Given the description of an element on the screen output the (x, y) to click on. 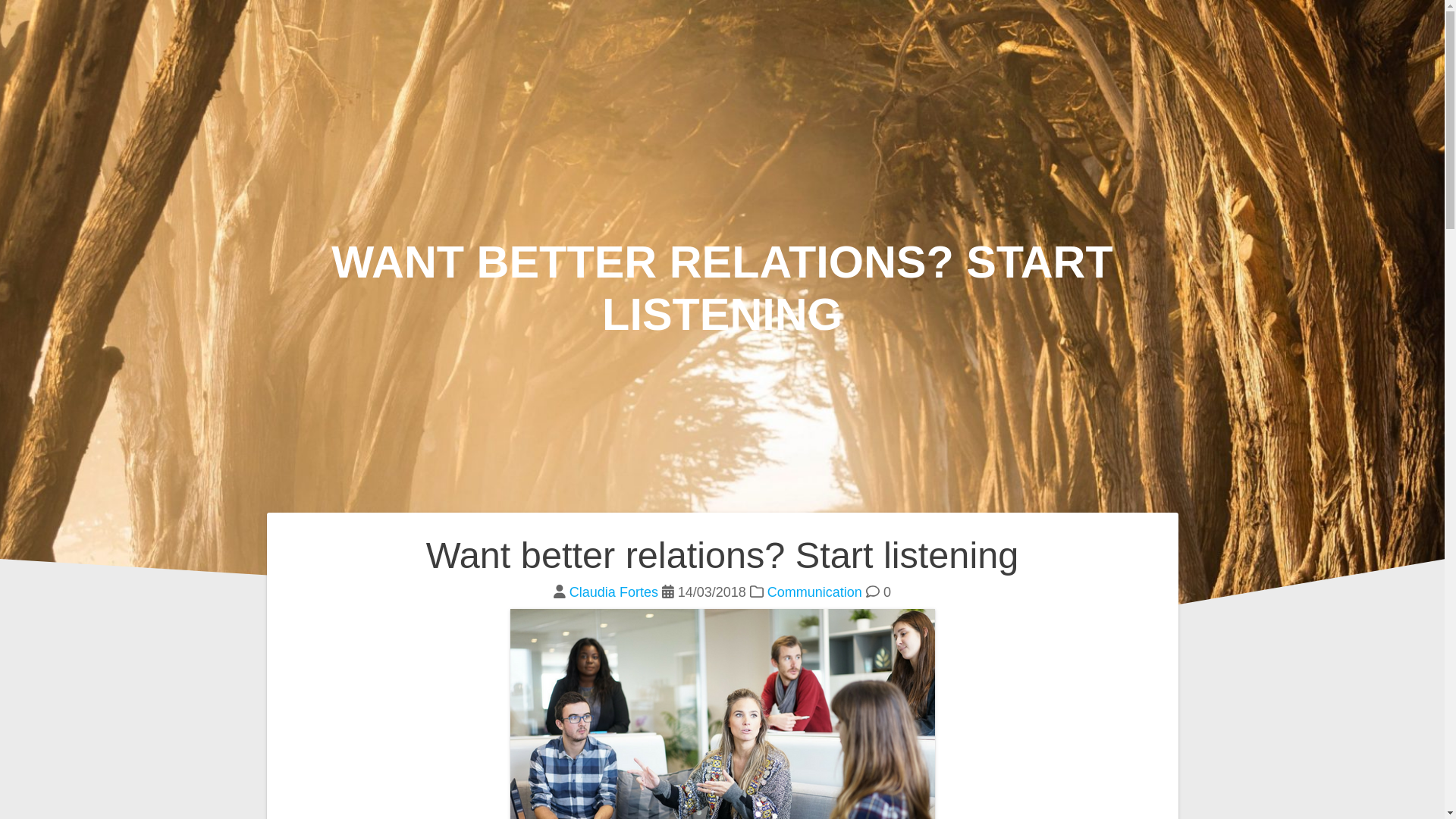
Claudia Fortes (613, 591)
ABOUT (1327, 31)
Posts by Claudia Fortes (613, 591)
Story World (167, 30)
WORK WITH ME (1053, 31)
Communication (814, 591)
WORKSHOPS (1208, 31)
